Given the description of an element on the screen output the (x, y) to click on. 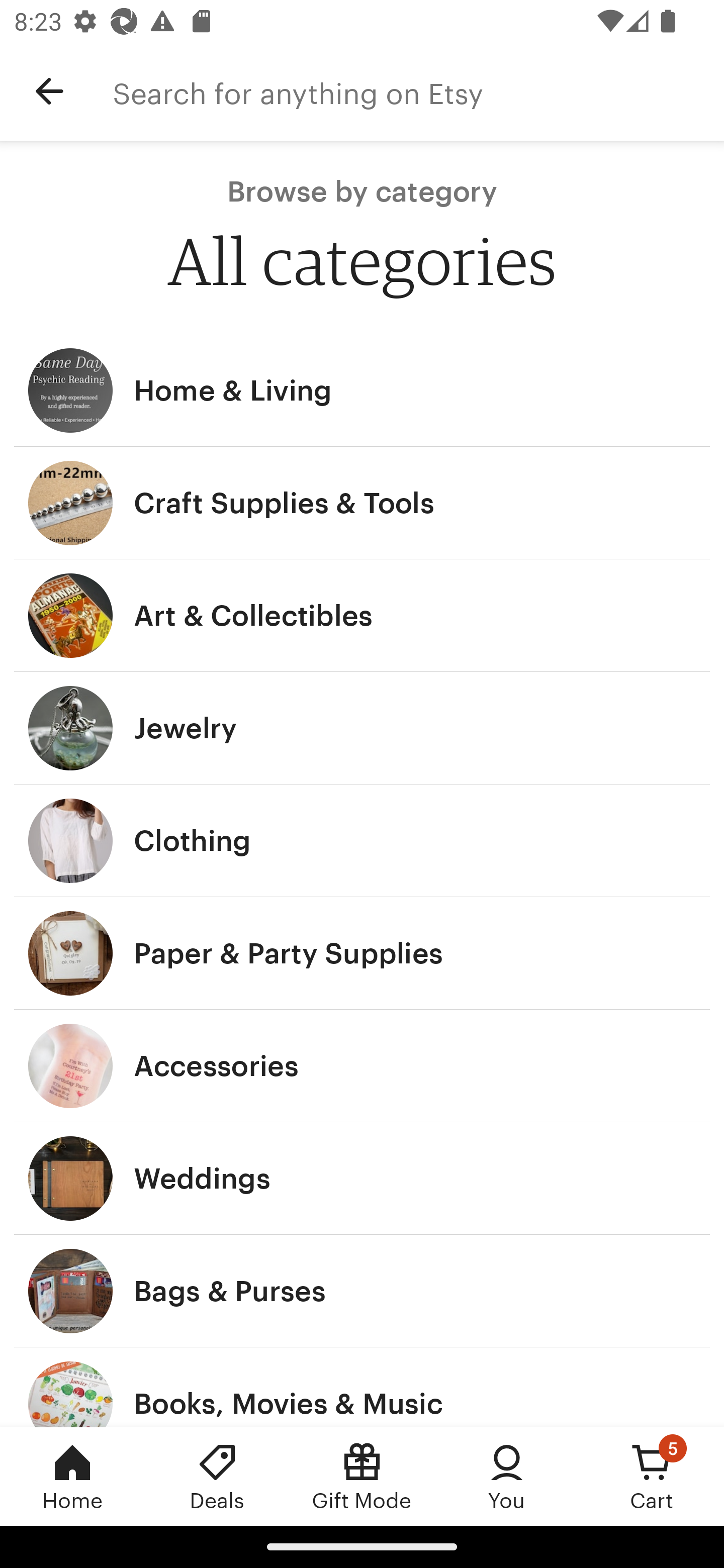
Navigate up (49, 91)
Search for anything on Etsy (418, 91)
Home & Living (361, 389)
Craft Supplies & Tools (361, 502)
Art & Collectibles (361, 615)
Jewelry (361, 728)
Clothing (361, 840)
Paper & Party Supplies (361, 952)
Accessories (361, 1065)
Weddings (361, 1178)
Bags & Purses (361, 1290)
Books, Movies & Music (361, 1386)
Deals (216, 1475)
Gift Mode (361, 1475)
You (506, 1475)
Cart, 5 new notifications Cart (651, 1475)
